Given the description of an element on the screen output the (x, y) to click on. 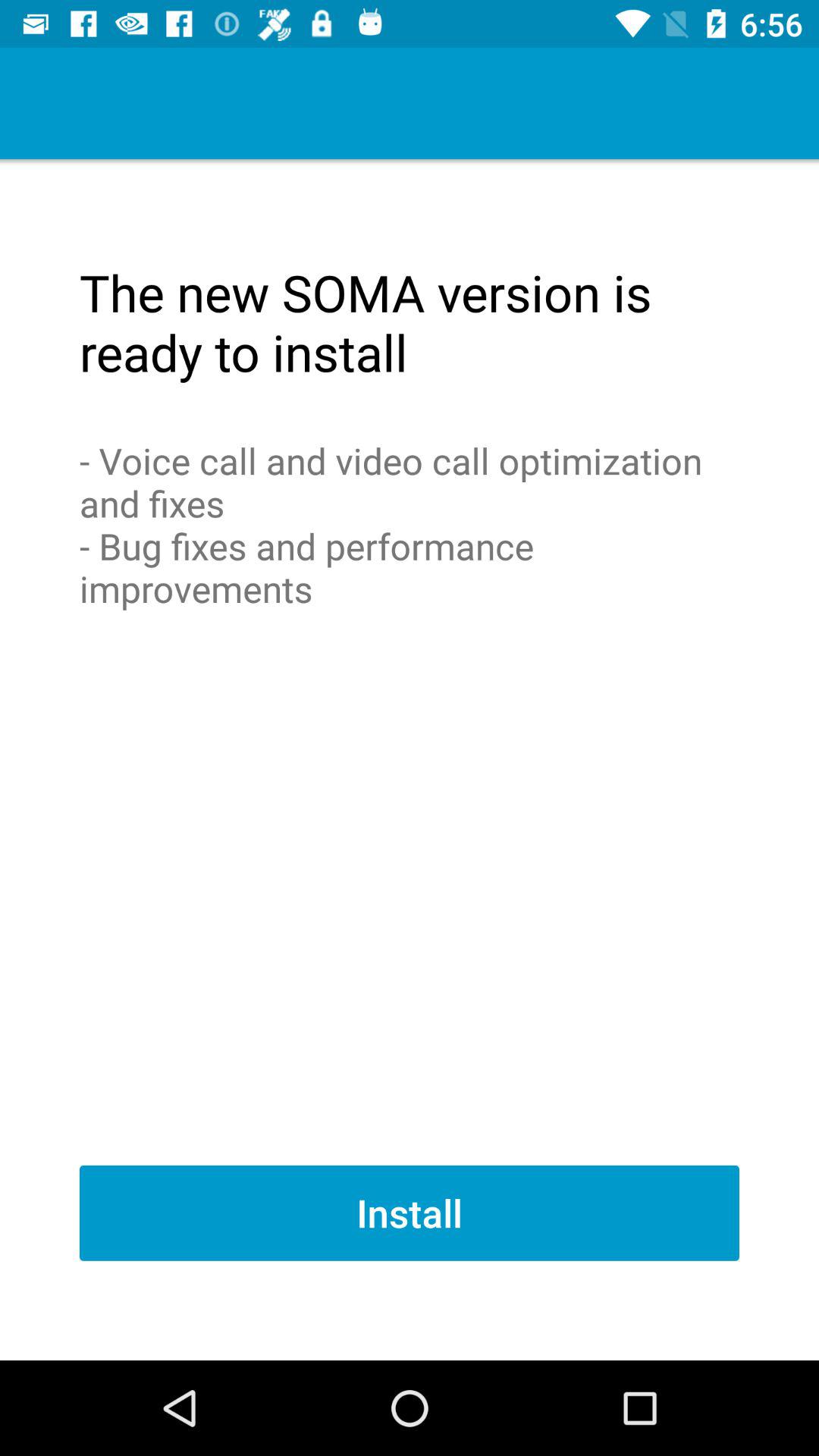
swipe to the voice call and icon (409, 524)
